Given the description of an element on the screen output the (x, y) to click on. 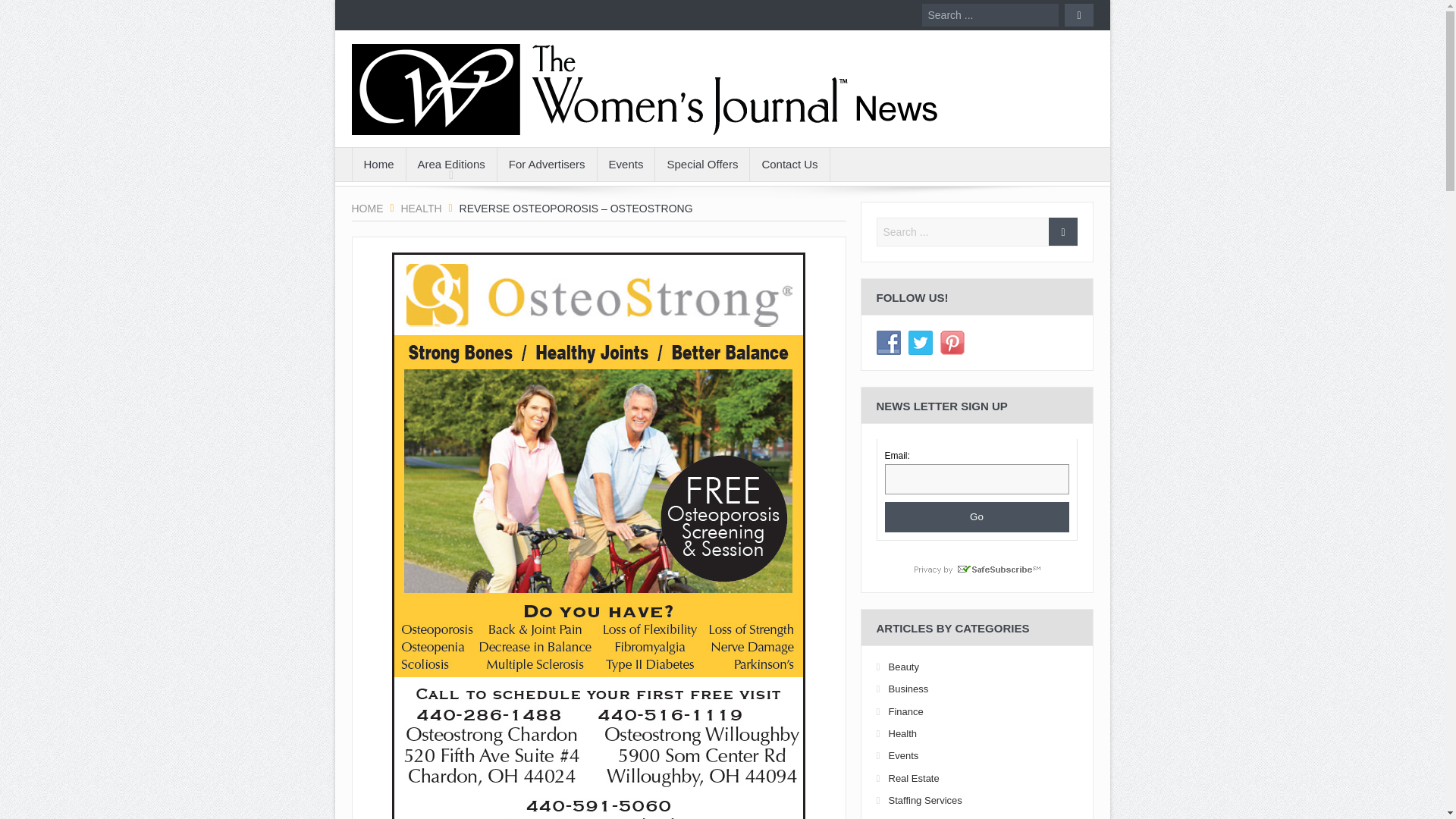
HEALTH (420, 208)
Follow Us on Pinterest (951, 342)
Home (378, 164)
Events (625, 164)
Follow Us on Facebook (888, 342)
For Advertisers (546, 164)
Follow Us on Twitter (920, 342)
Special Offers (702, 164)
Health (420, 208)
Go (975, 517)
